Given the description of an element on the screen output the (x, y) to click on. 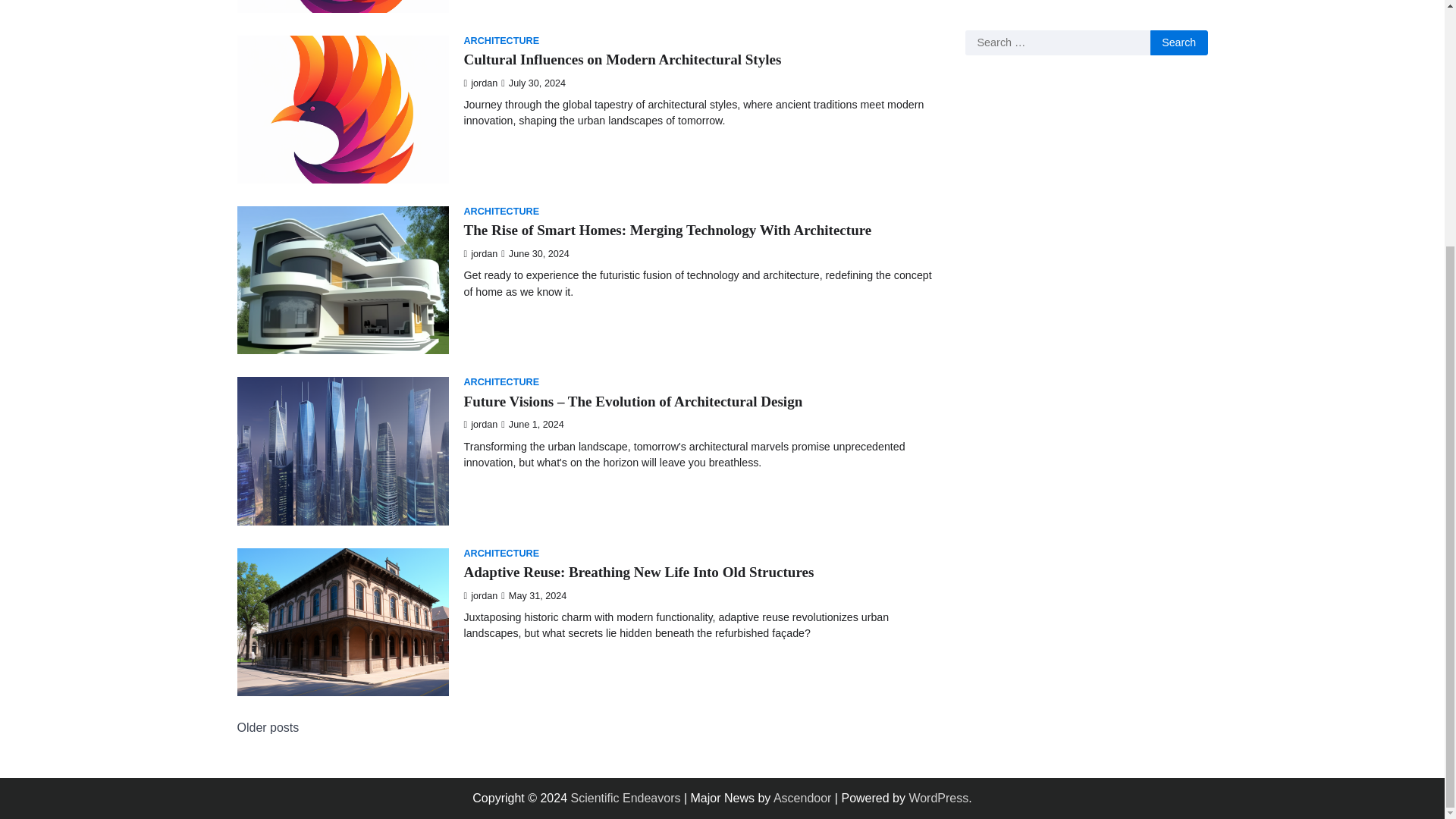
ARCHITECTURE (502, 553)
ARCHITECTURE (502, 382)
Cultural Influences on Modern Architectural Styles (622, 59)
July 30, 2024 (533, 82)
Adaptive Reuse: Breathing New Life Into Old Structures (638, 571)
Older posts (266, 728)
ARCHITECTURE (502, 211)
ARCHITECTURE (502, 41)
June 1, 2024 (532, 424)
